Given the description of an element on the screen output the (x, y) to click on. 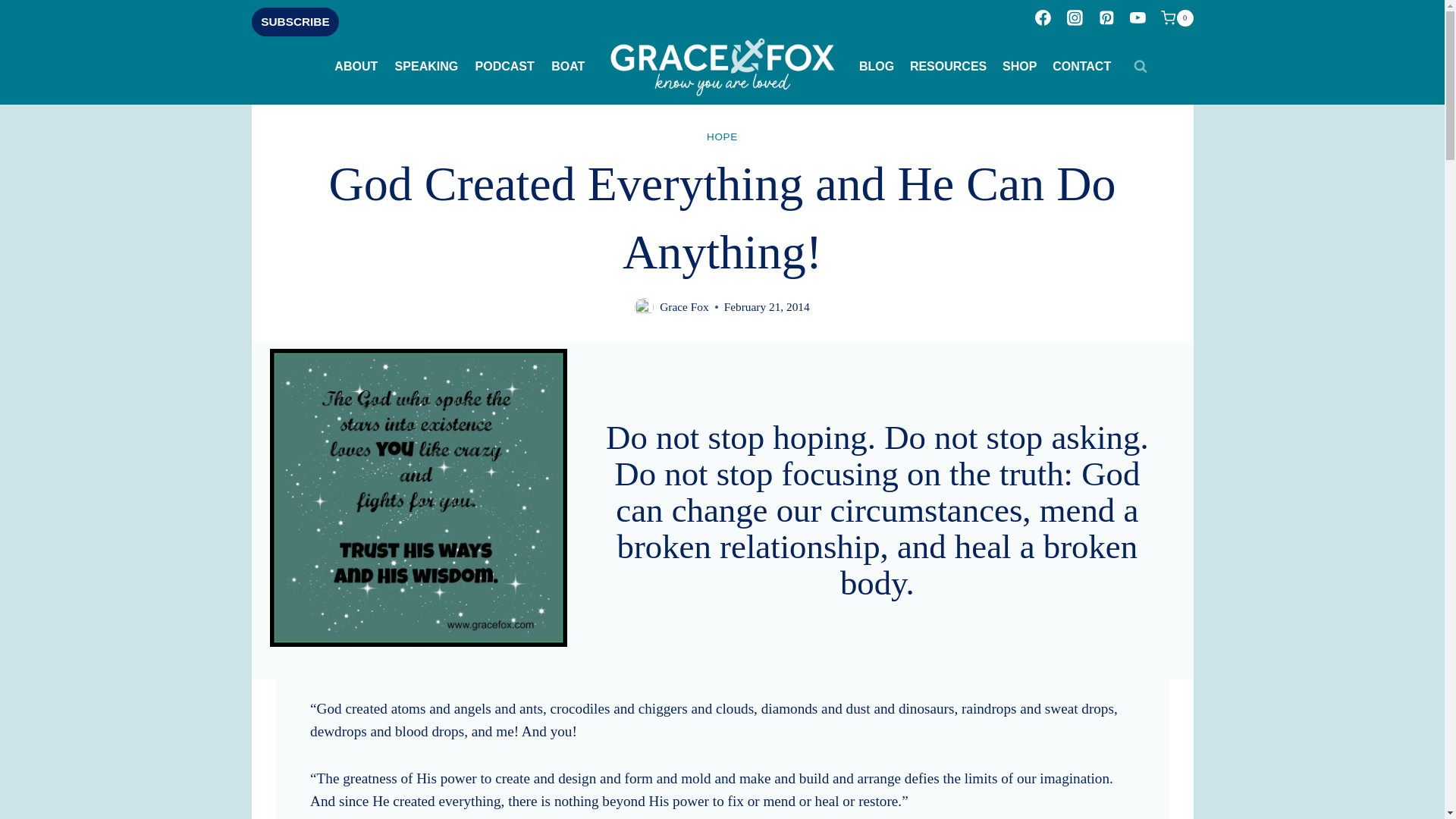
RESOURCES (948, 66)
SUBSCRIBE (295, 21)
ABOUT (355, 66)
0 (1176, 17)
PODCAST (504, 66)
BLOG (875, 66)
BOAT (568, 66)
HOPE (722, 136)
Grace Fox (683, 306)
SPEAKING (425, 66)
CONTACT (1082, 66)
SHOP (1019, 66)
